Given the description of an element on the screen output the (x, y) to click on. 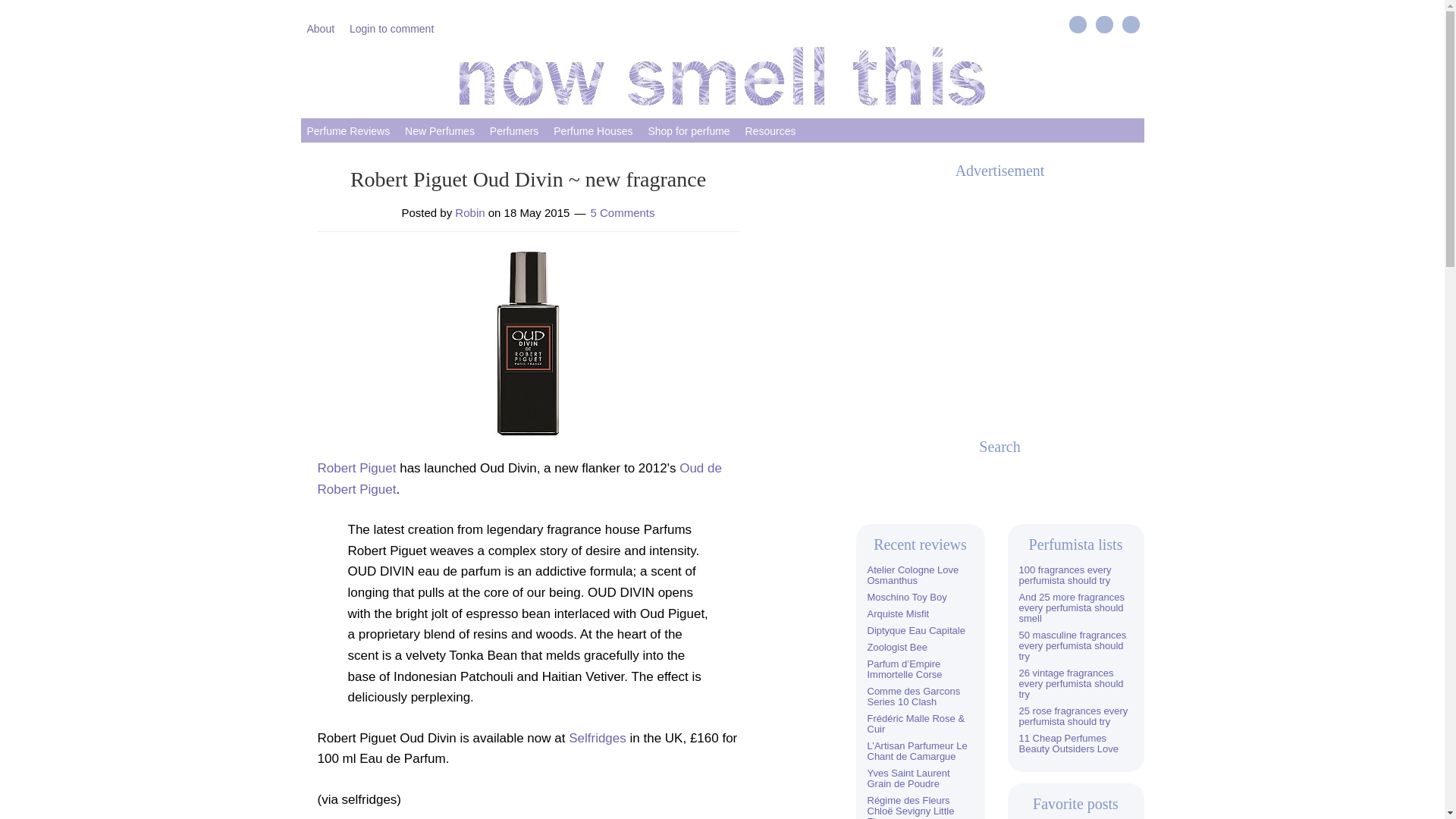
Arquiste Misfit (898, 613)
Oud de Robert Piguet (518, 478)
Perfumers (513, 129)
About (319, 27)
Now Smell This (721, 75)
5 Comments (621, 212)
Login to comment (391, 27)
Robin (469, 212)
Robert Piguet (356, 468)
Shop for perfume (688, 129)
